Given the description of an element on the screen output the (x, y) to click on. 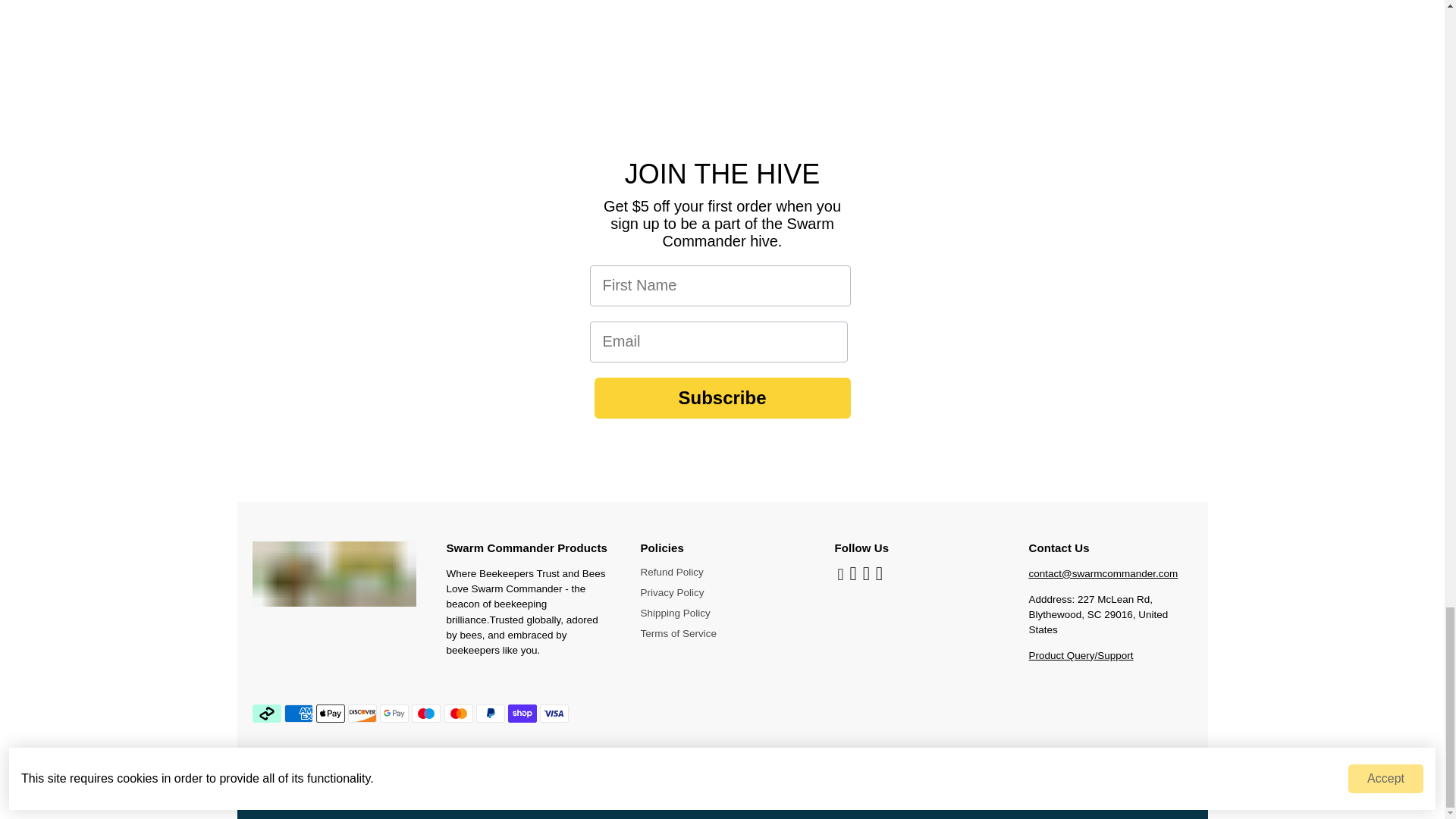
Contact (1079, 655)
